Given the description of an element on the screen output the (x, y) to click on. 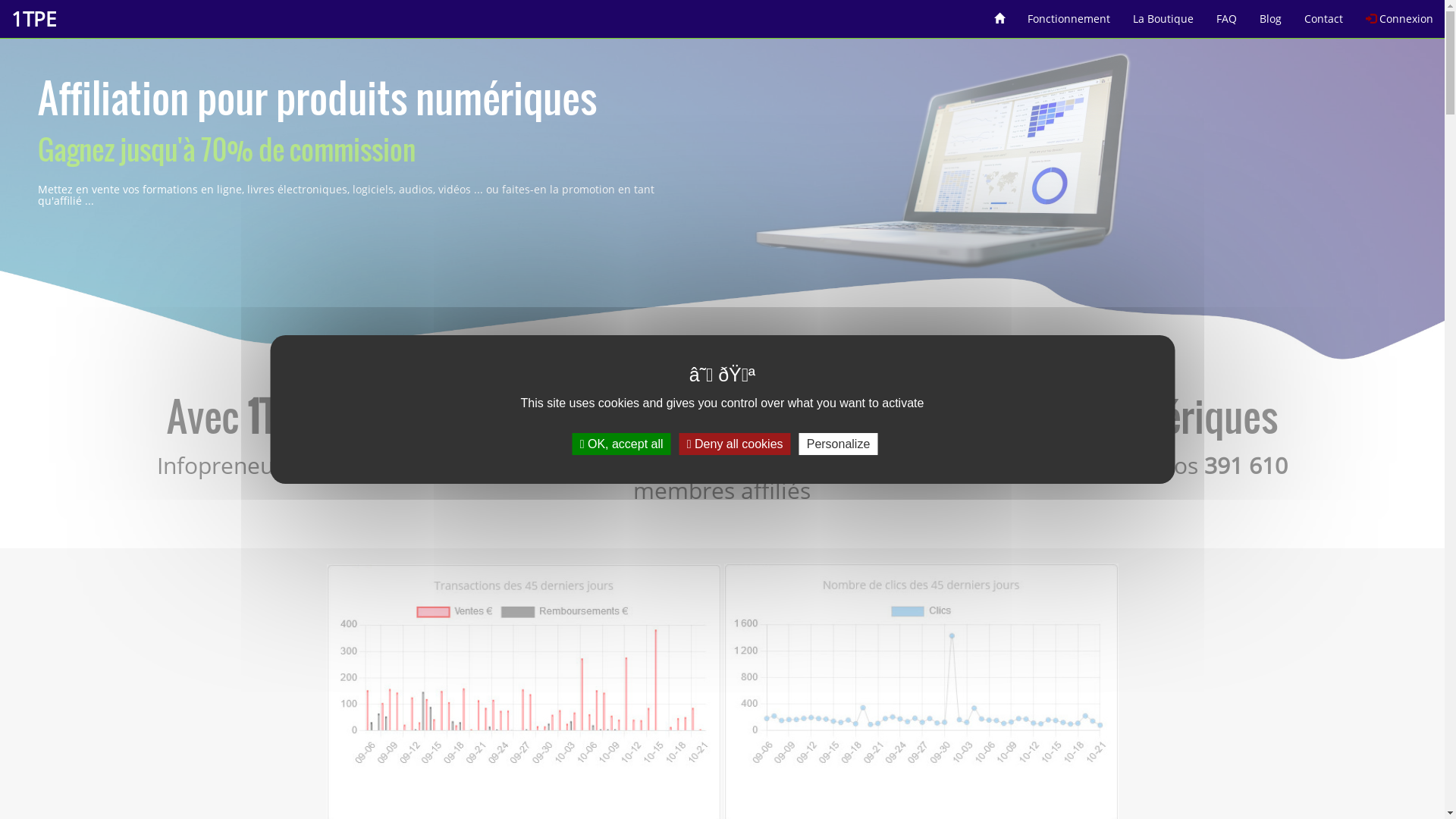
FAQ Element type: text (1226, 13)
OK, accept all Element type: text (621, 444)
Fonctionnement Element type: text (1068, 13)
Contact Element type: text (1323, 13)
Blog Element type: text (1270, 13)
Deny all cookies Element type: text (734, 444)
Personalize Element type: text (838, 444)
1TPE Element type: text (33, 18)
La Boutique Element type: text (1162, 13)
Connexion Element type: text (1399, 13)
